Given the description of an element on the screen output the (x, y) to click on. 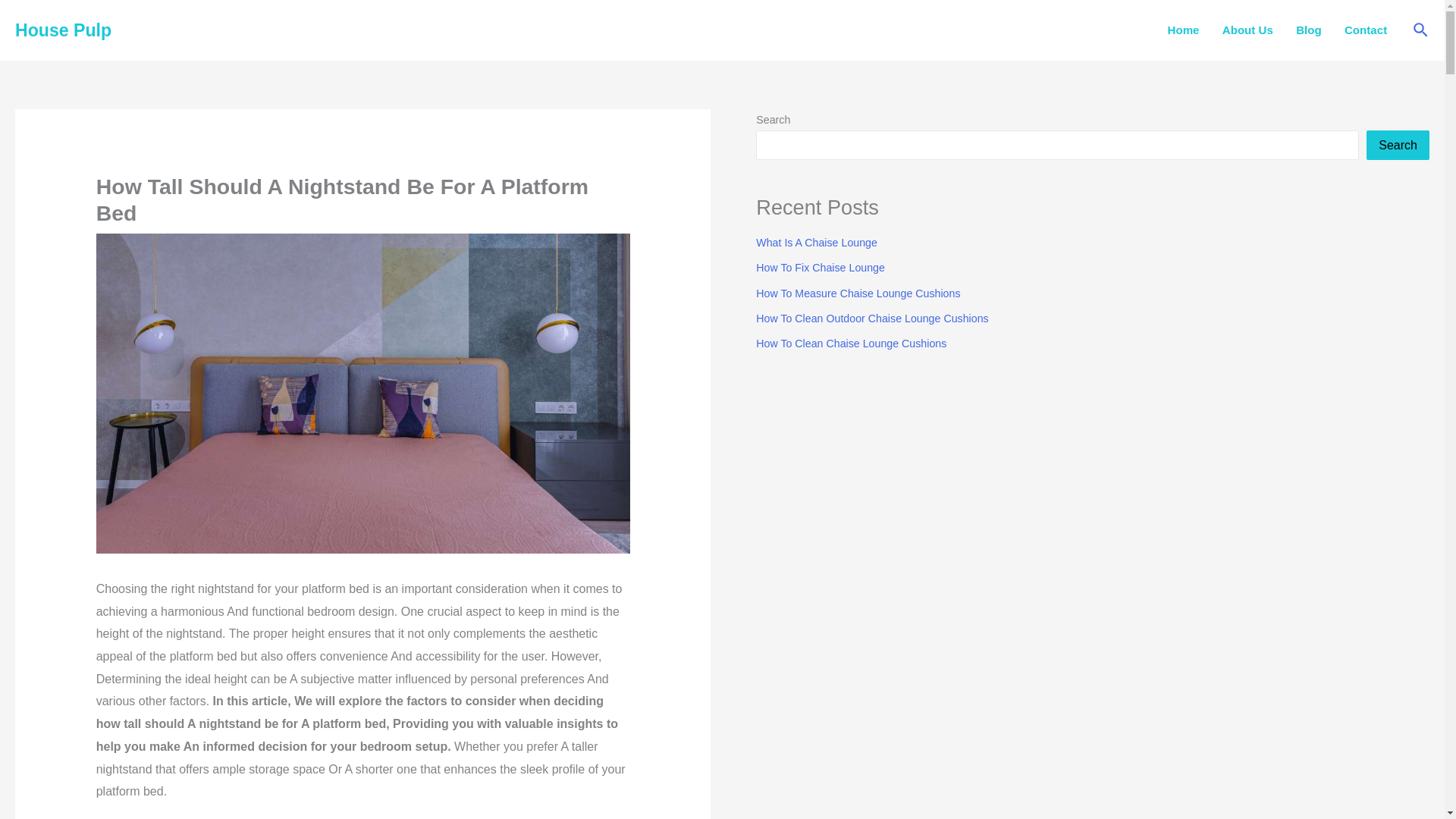
What Is A Chaise Lounge (816, 242)
How To Fix Chaise Lounge (820, 267)
House Pulp (63, 30)
Contact (1365, 30)
How To Measure Chaise Lounge Cushions (857, 293)
About Us (1247, 30)
Search (1398, 144)
How To Clean Chaise Lounge Cushions (850, 343)
Home (1182, 30)
How To Clean Outdoor Chaise Lounge Cushions (871, 318)
